Given the description of an element on the screen output the (x, y) to click on. 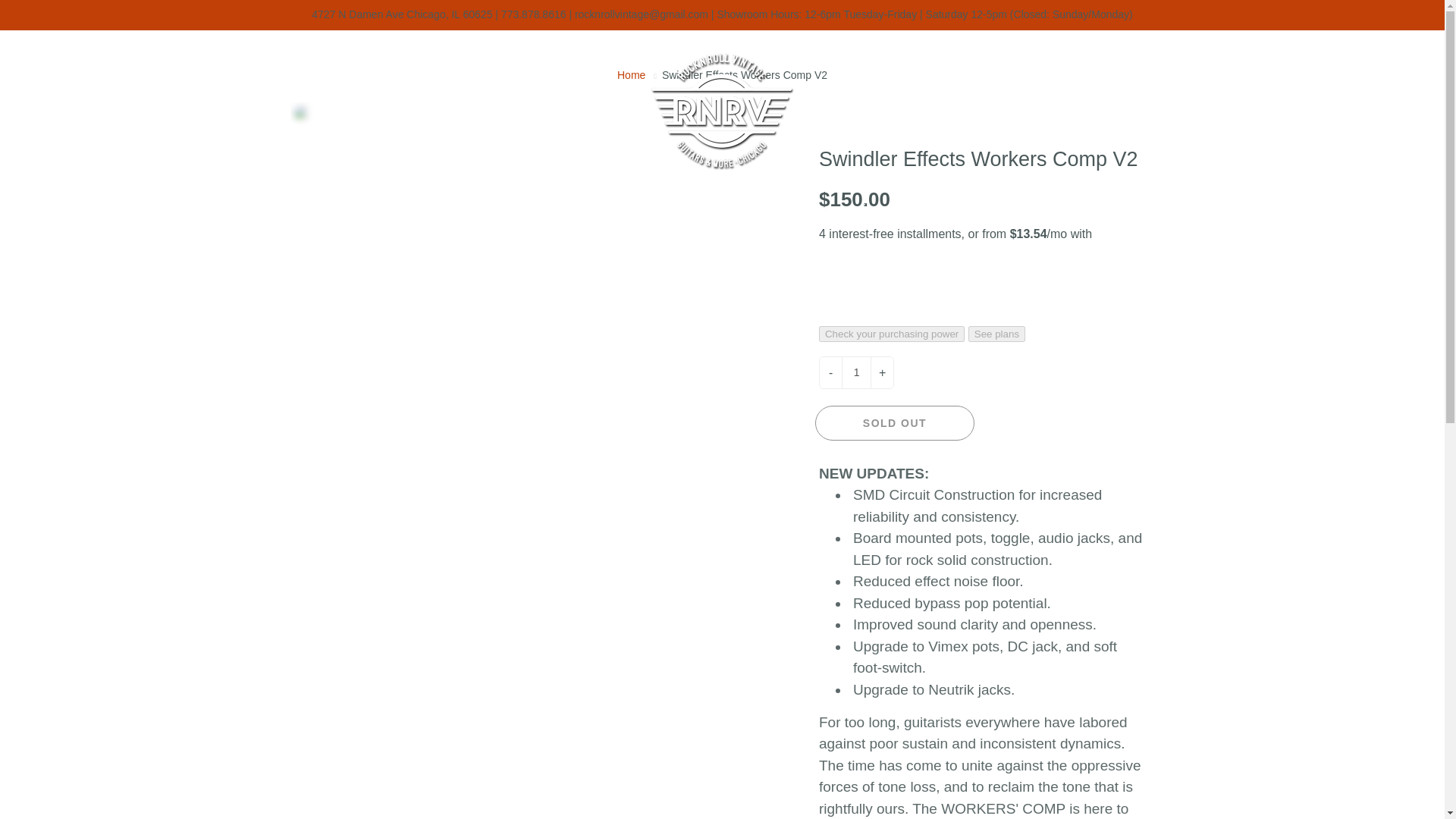
Home (631, 74)
Guitars (334, 209)
Swindler Effects Workers Comp V2 (537, 111)
Effects (429, 209)
Synth City (532, 209)
You have 0 items in your cart (1417, 56)
My account (1379, 56)
1 (855, 372)
Search (28, 56)
